Given the description of an element on the screen output the (x, y) to click on. 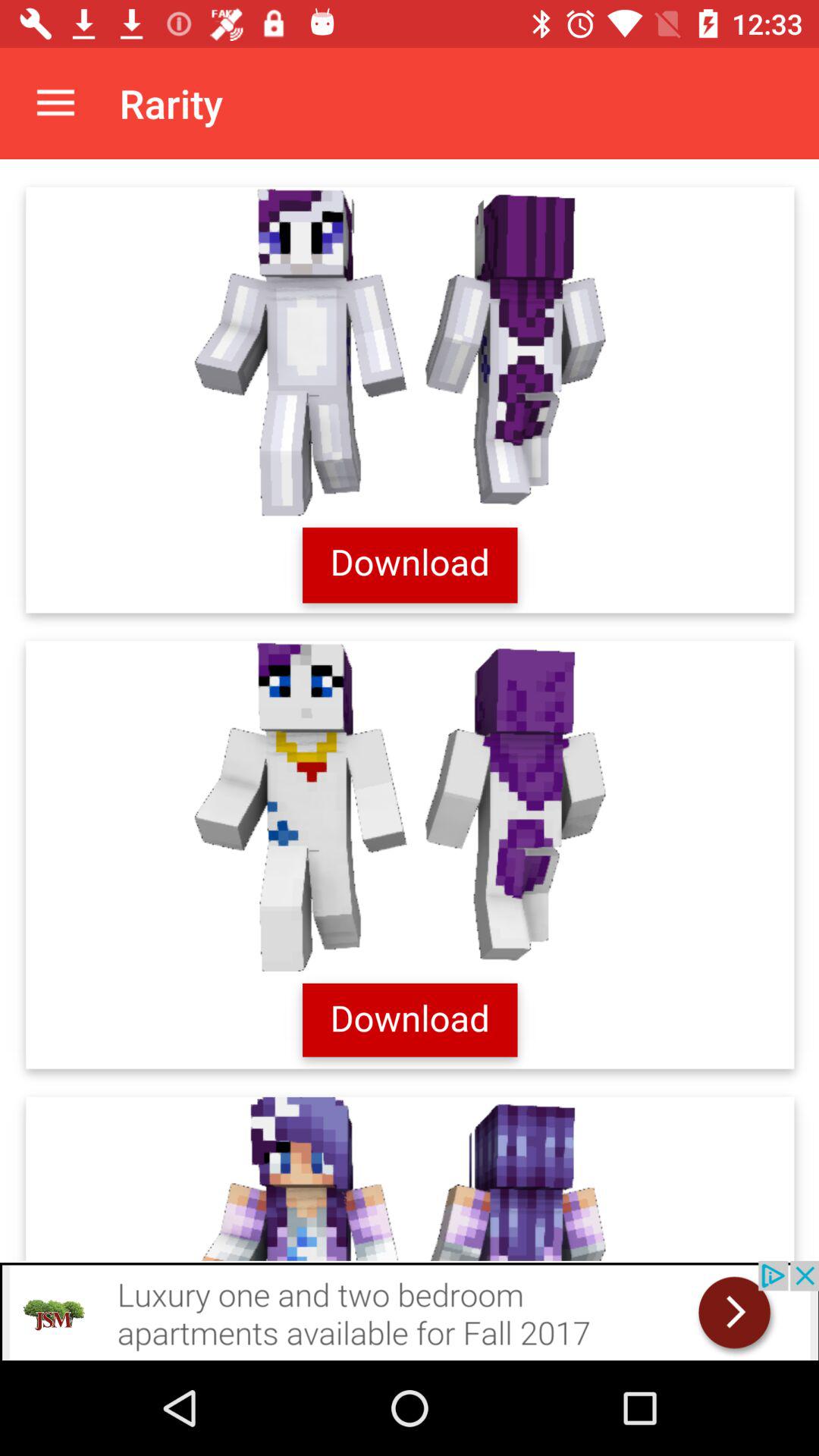
descrition (409, 709)
